Given the description of an element on the screen output the (x, y) to click on. 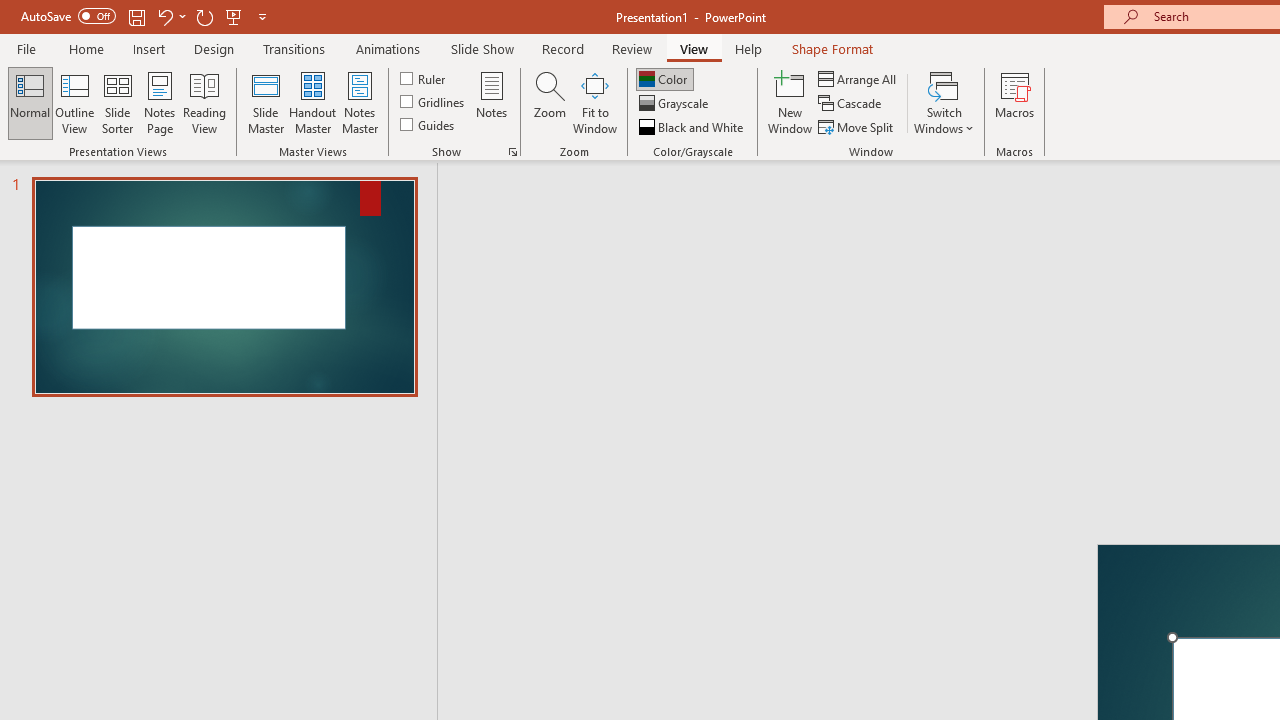
Grid Settings... (512, 151)
Cascade (851, 103)
Notes Master (360, 102)
Zoom... (549, 102)
Notes Page (159, 102)
